Given the description of an element on the screen output the (x, y) to click on. 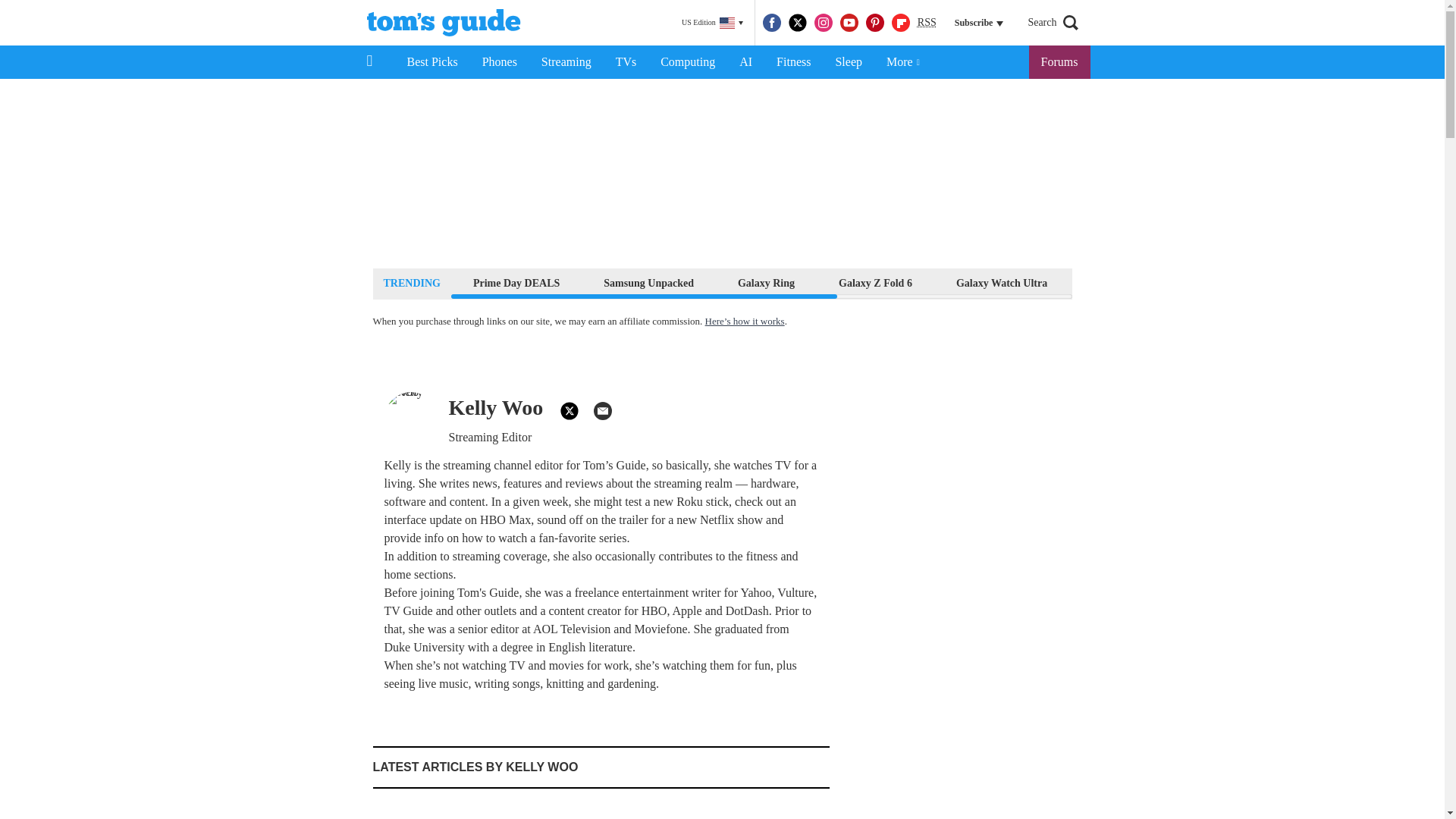
Streaming (566, 61)
Best Picks (431, 61)
US Edition (712, 22)
Computing (686, 61)
Phones (499, 61)
Sleep (848, 61)
Fitness (793, 61)
RSS (926, 22)
Really Simple Syndication (926, 21)
TVs (626, 61)
AI (745, 61)
